Given the description of an element on the screen output the (x, y) to click on. 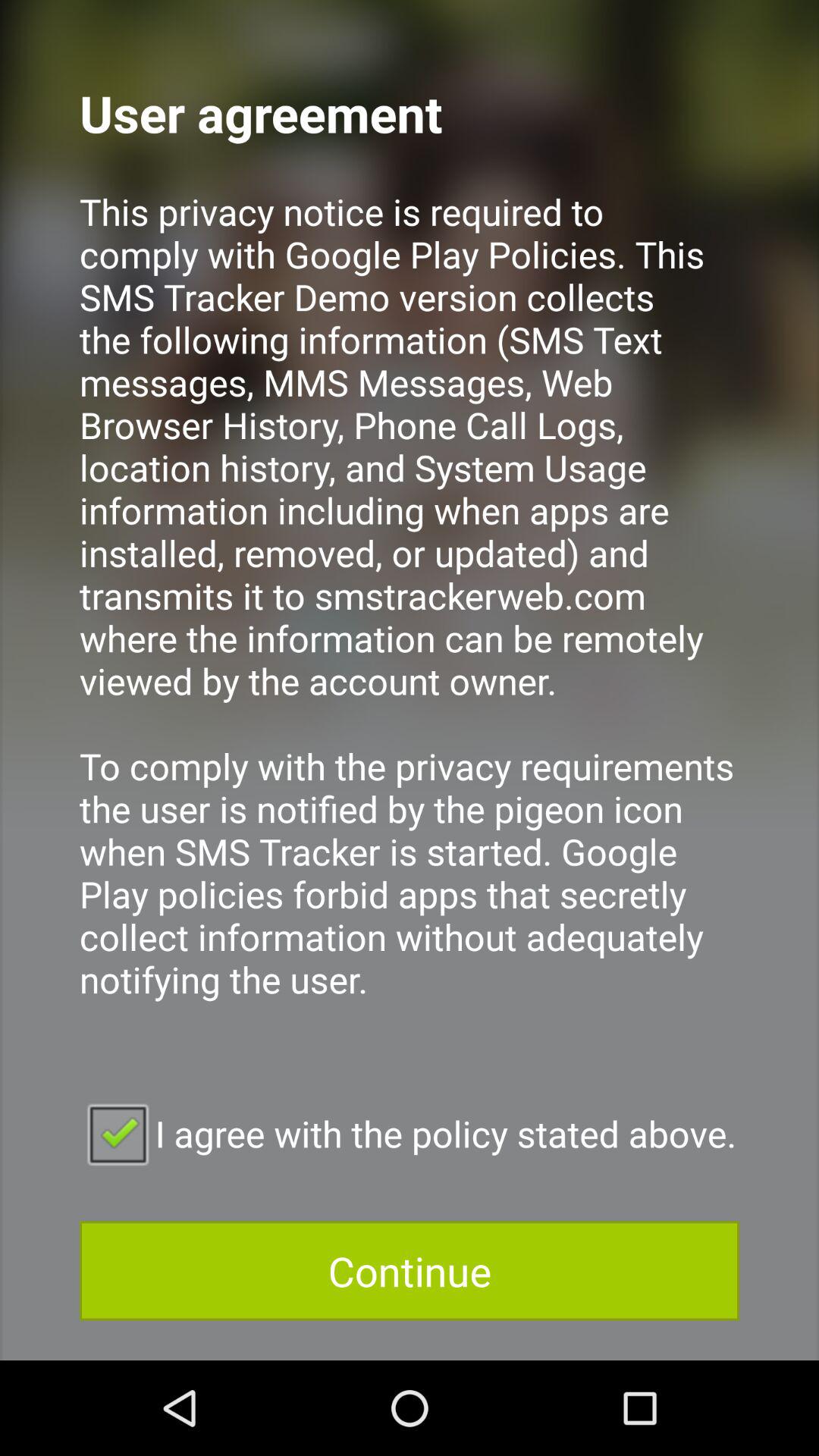
turn off app below the this privacy notice item (409, 1133)
